Given the description of an element on the screen output the (x, y) to click on. 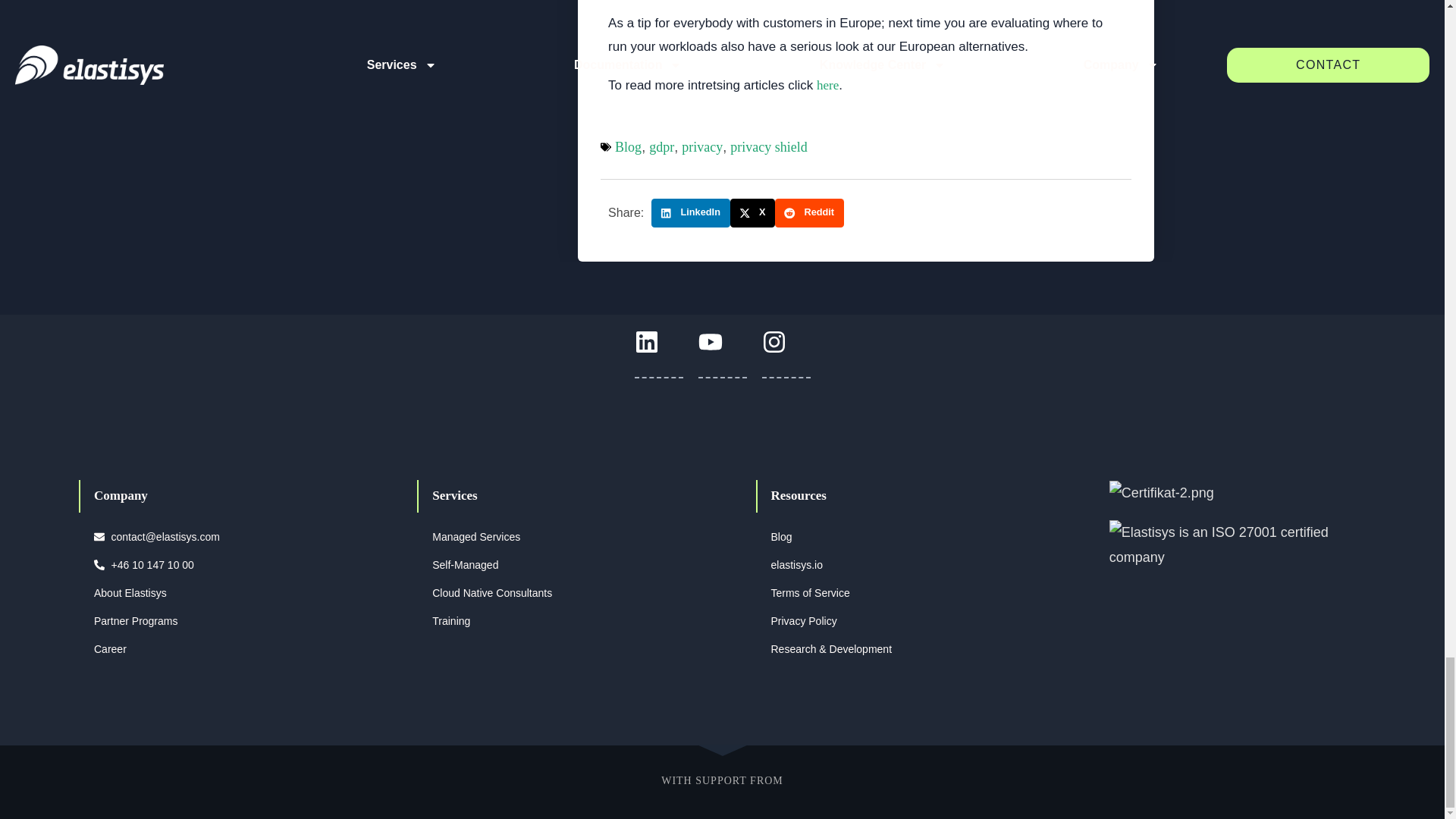
ISO 27001 Horizontal En (1230, 544)
Certifikat-2.png (1161, 492)
